Given the description of an element on the screen output the (x, y) to click on. 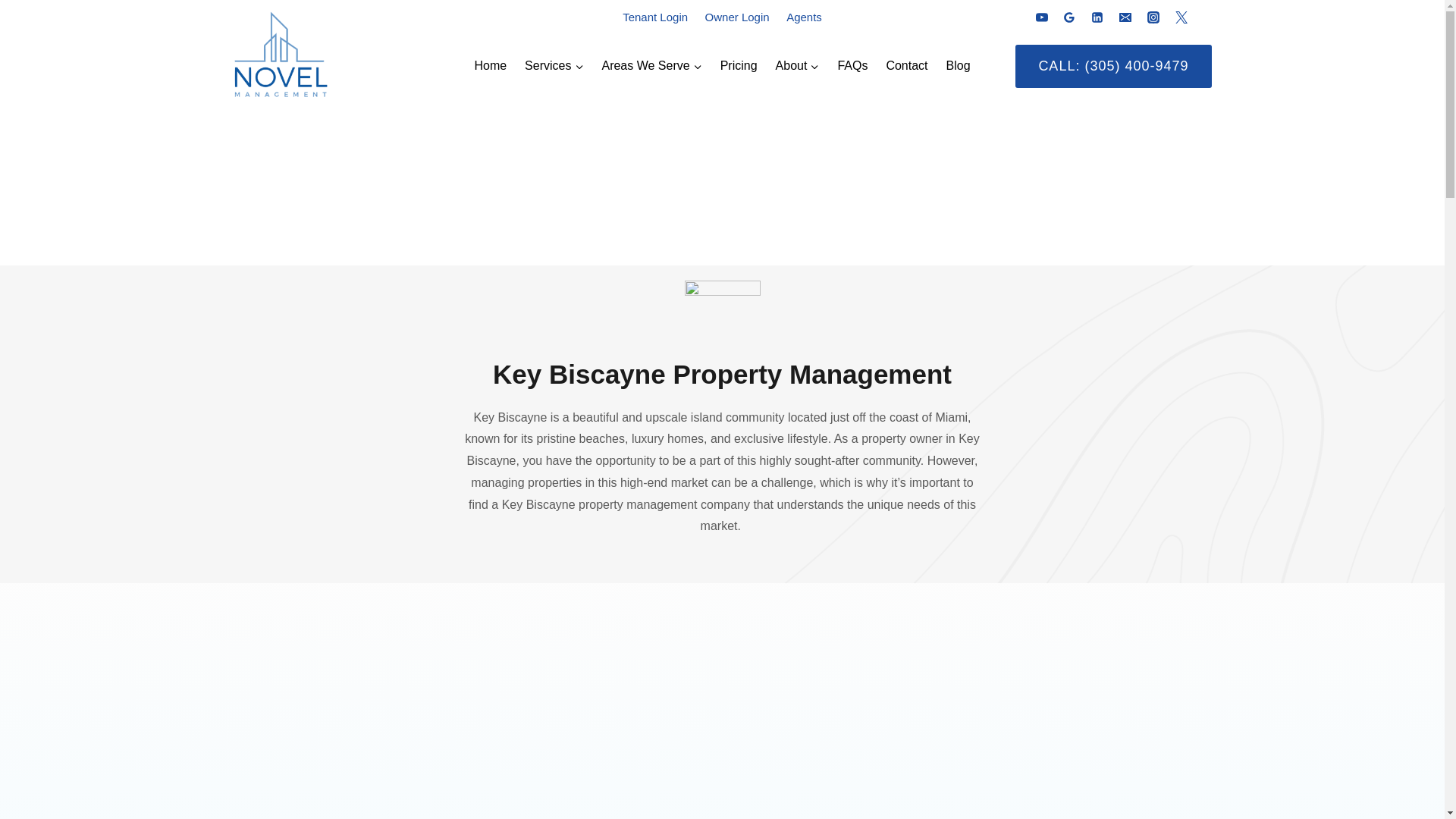
Agents (803, 17)
Areas We Serve (651, 66)
Owner Login (736, 17)
Home (489, 66)
Pricing (739, 66)
Tenant Login (654, 17)
About (797, 66)
Services (553, 66)
